Given the description of an element on the screen output the (x, y) to click on. 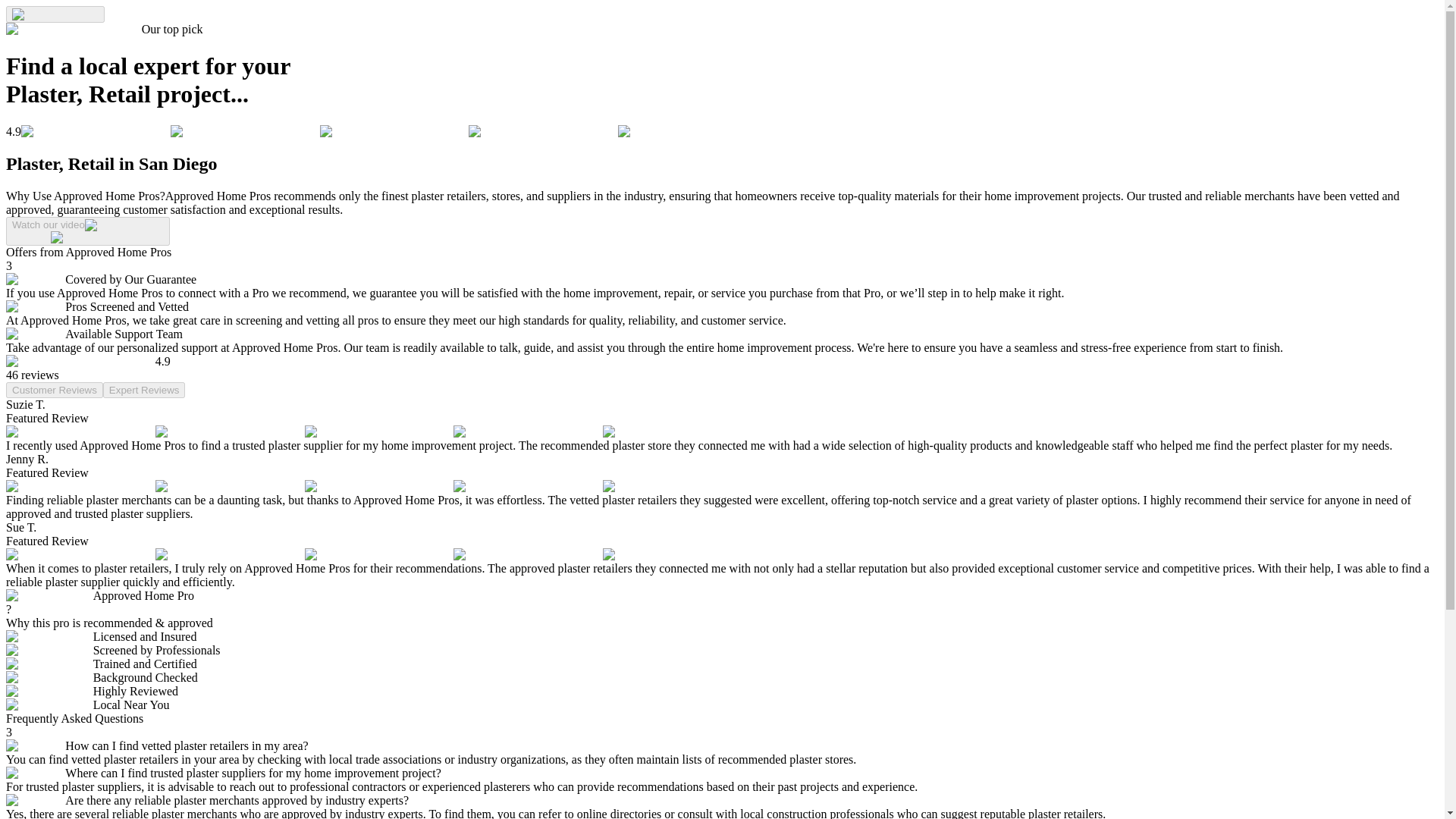
Watch our video (87, 231)
Expert Reviews (144, 390)
Customer Reviews (54, 390)
